Given the description of an element on the screen output the (x, y) to click on. 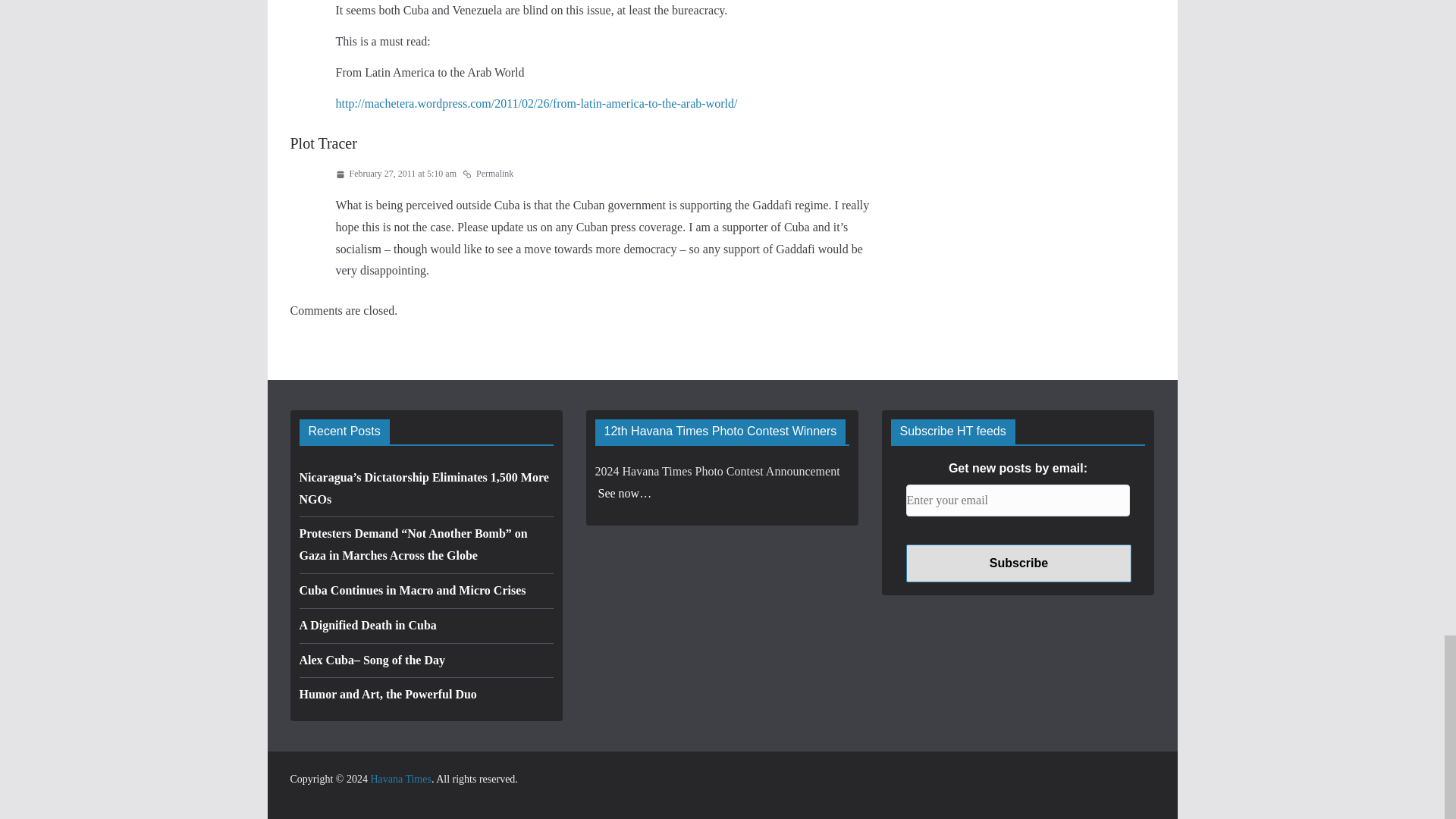
Permalink (488, 174)
Subscribe (1018, 563)
Plot Tracer (322, 143)
